Given the description of an element on the screen output the (x, y) to click on. 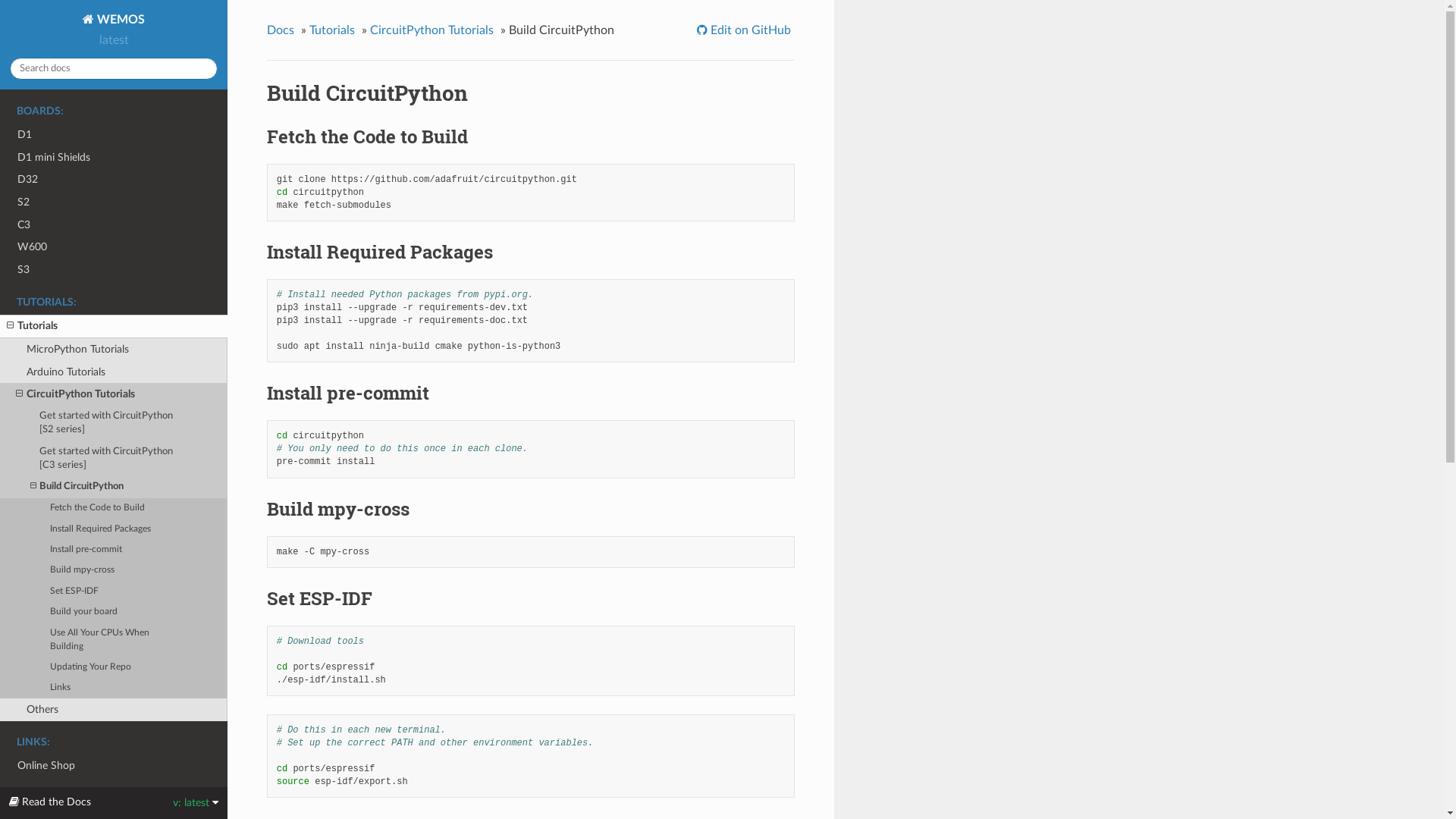
Use All Your CPUs When Building Element type: text (113, 639)
Install Required Packages Element type: text (113, 528)
D1 Element type: text (113, 134)
Build your board Element type: text (113, 612)
D1 mini Shields Element type: text (113, 157)
S2 Element type: text (113, 202)
Updating Your Repo Element type: text (113, 666)
Others Element type: text (113, 709)
Get started with CircuitPython [C3 series] Element type: text (113, 458)
C3 Element type: text (113, 224)
Docs Element type: text (282, 30)
Tutorials Element type: text (113, 326)
WEMOS Element type: text (113, 18)
Edit on GitHub Element type: text (745, 29)
Set ESP-IDF Element type: text (113, 590)
S3 Element type: text (113, 269)
Online Shop Element type: text (113, 765)
MicroPython Tutorials Element type: text (113, 349)
Arduino Tutorials Element type: text (113, 371)
Install pre-commit Element type: text (113, 549)
D32 Element type: text (113, 179)
CircuitPython Tutorials Element type: text (433, 30)
CircuitPython Tutorials Element type: text (113, 393)
Get started with CircuitPython [S2 series] Element type: text (113, 422)
Fetch the Code to Build Element type: text (113, 507)
W600 Element type: text (113, 246)
Build CircuitPython Element type: text (113, 486)
Links Element type: text (113, 687)
Tutorials Element type: text (333, 30)
Build mpy-cross Element type: text (113, 570)
